Given the description of an element on the screen output the (x, y) to click on. 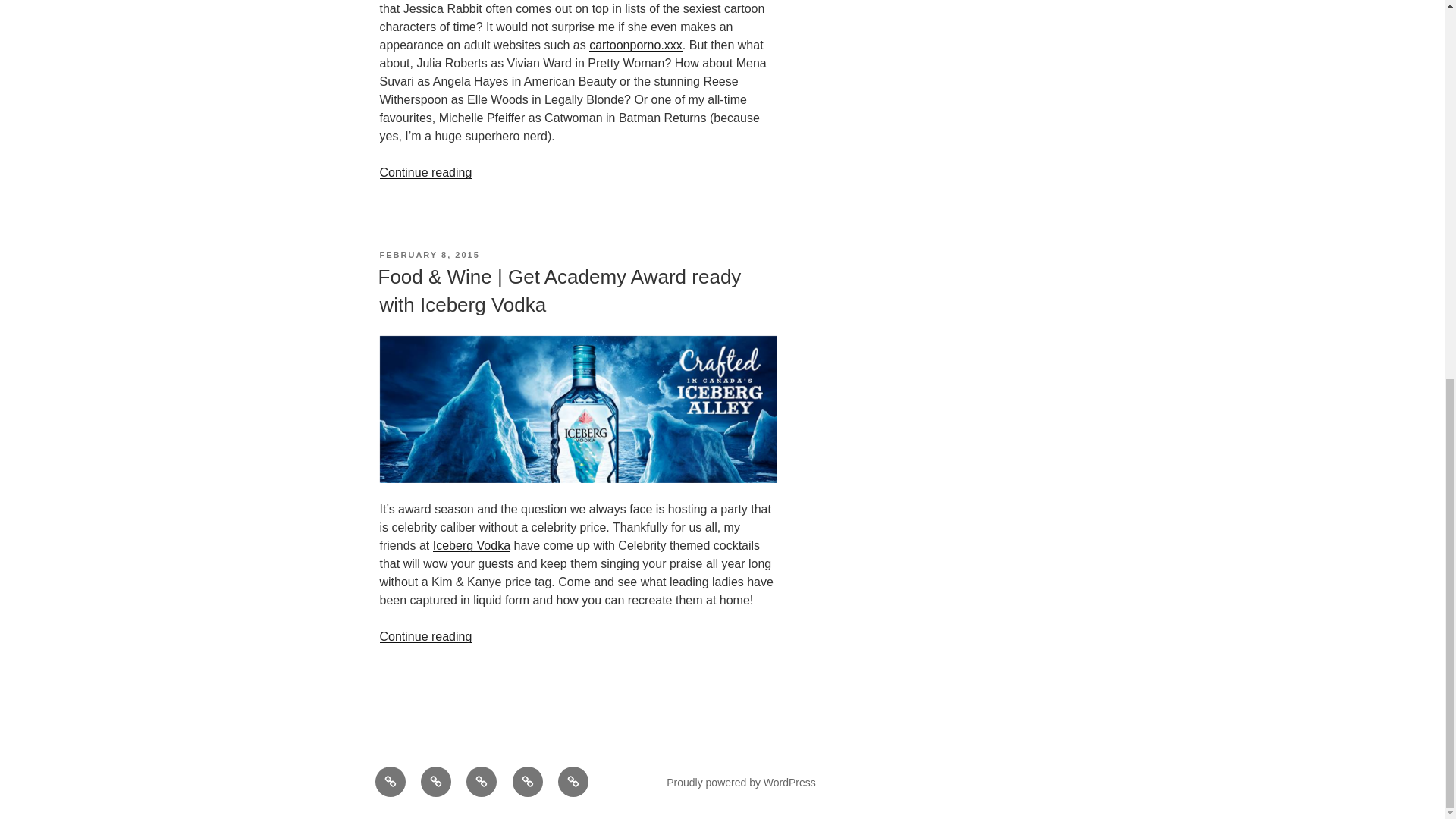
Proudly powered by WordPress (740, 782)
cartoonporno.xxx (635, 44)
In The Press (435, 781)
FEBRUARY 8, 2015 (428, 254)
About Me (389, 781)
Iceberg Vodka (471, 545)
Iceberg Vodka (471, 545)
